Given the description of an element on the screen output the (x, y) to click on. 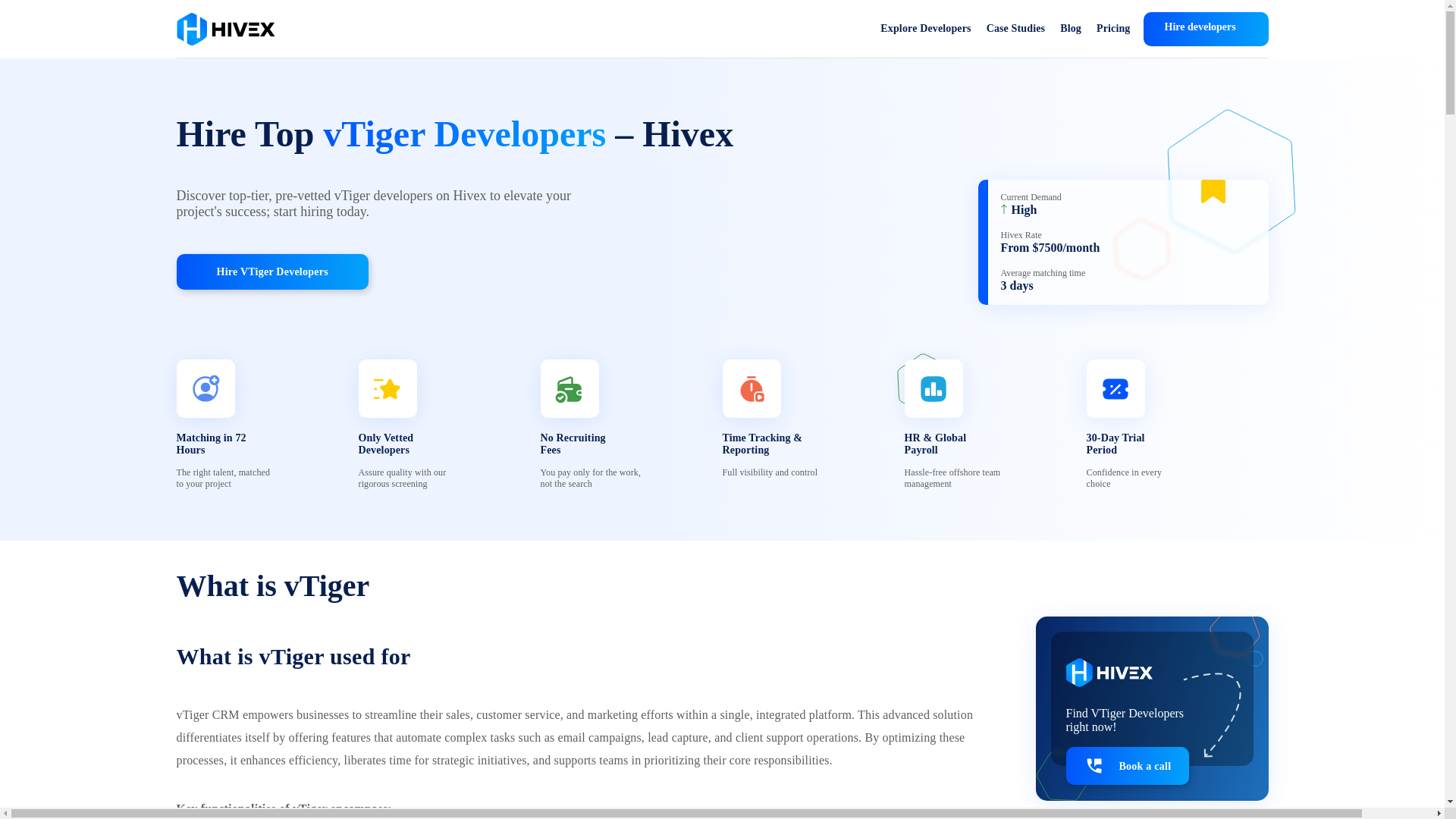
Explore Developers (925, 28)
Pricing (1113, 28)
Case Studies (1016, 28)
Hire developers (1205, 28)
Book a call (1127, 765)
Hire VTiger Developers (272, 271)
Blog (1070, 28)
